Given the description of an element on the screen output the (x, y) to click on. 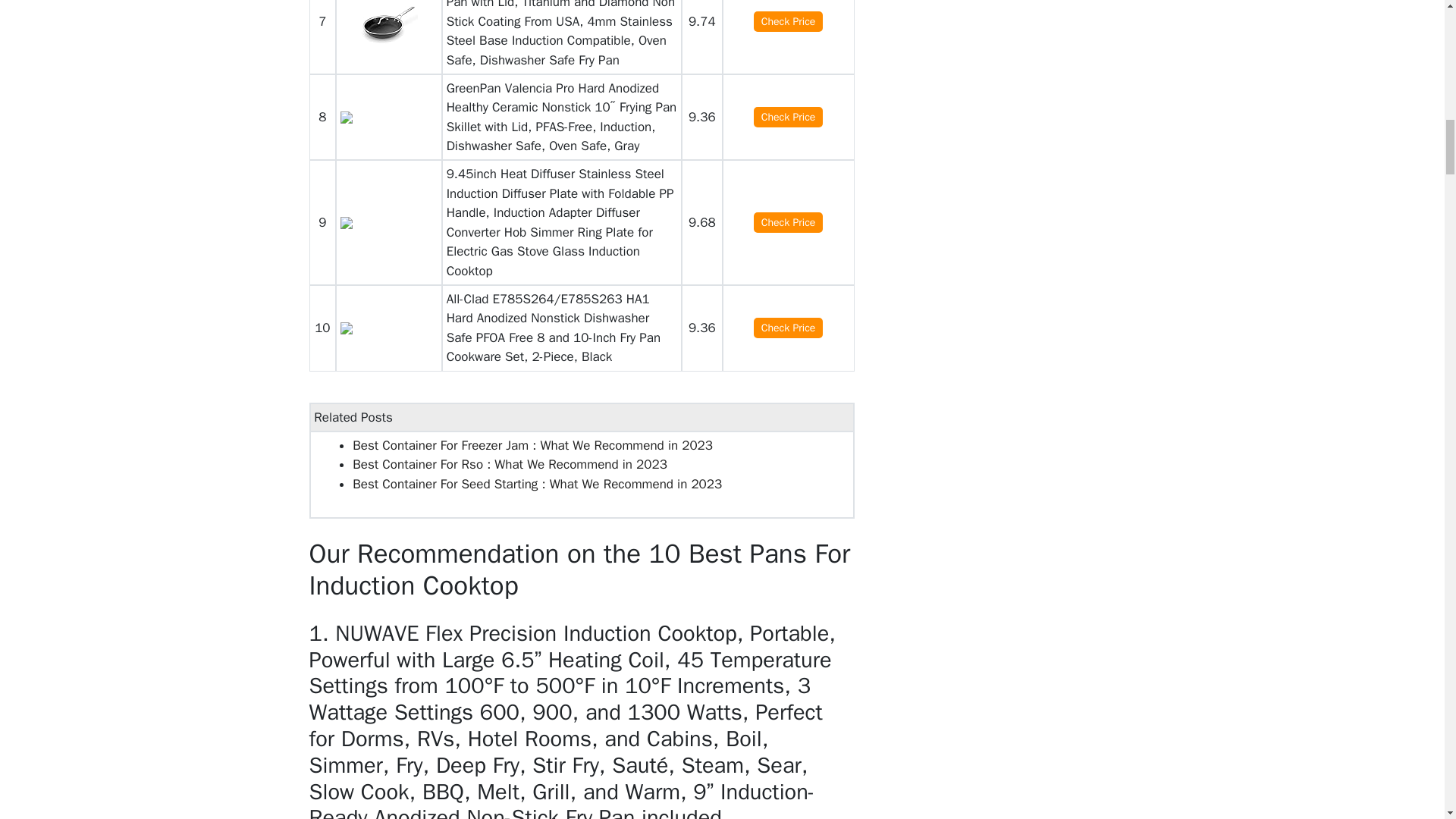
Check Price (789, 117)
Best Container For Seed Starting : What We Recommend in 2023 (537, 483)
Best Container For Freezer Jam : What We Recommend in 2023 (532, 445)
Check Price (789, 222)
Check Price (789, 21)
Check Price (789, 327)
Best Container For Rso : What We Recommend in 2023 (509, 464)
Best Container For Rso : What We Recommend in 2023 (509, 464)
Best Container For Seed Starting : What We Recommend in 2023 (537, 483)
Best Container For Freezer Jam : What We Recommend in 2023 (532, 445)
